Given the description of an element on the screen output the (x, y) to click on. 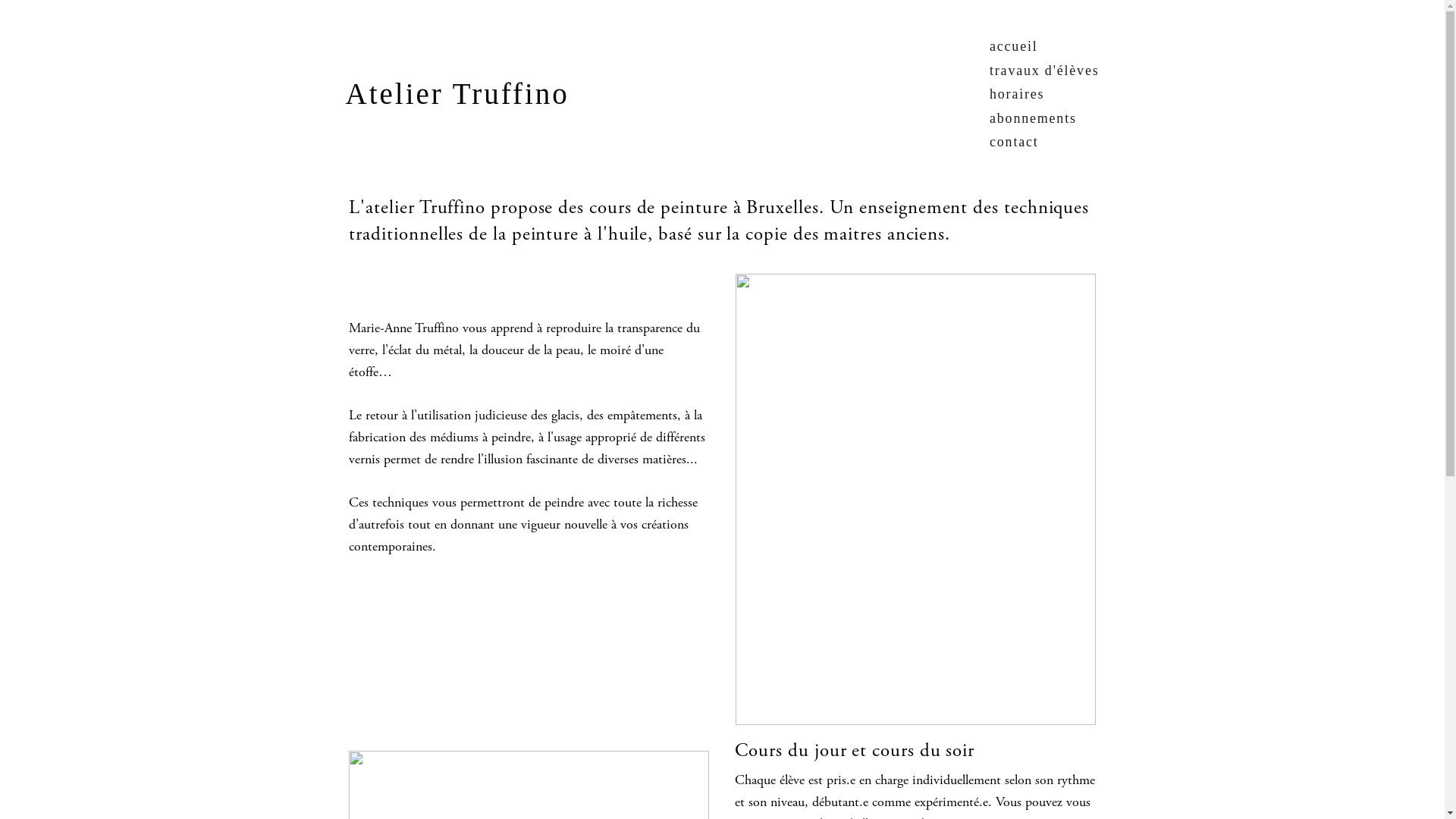
horaires Element type: text (1016, 94)
accueil Element type: text (1013, 46)
Atelier Truffino Element type: text (457, 93)
abonnements Element type: text (1032, 117)
contact Element type: text (1013, 141)
